Given the description of an element on the screen output the (x, y) to click on. 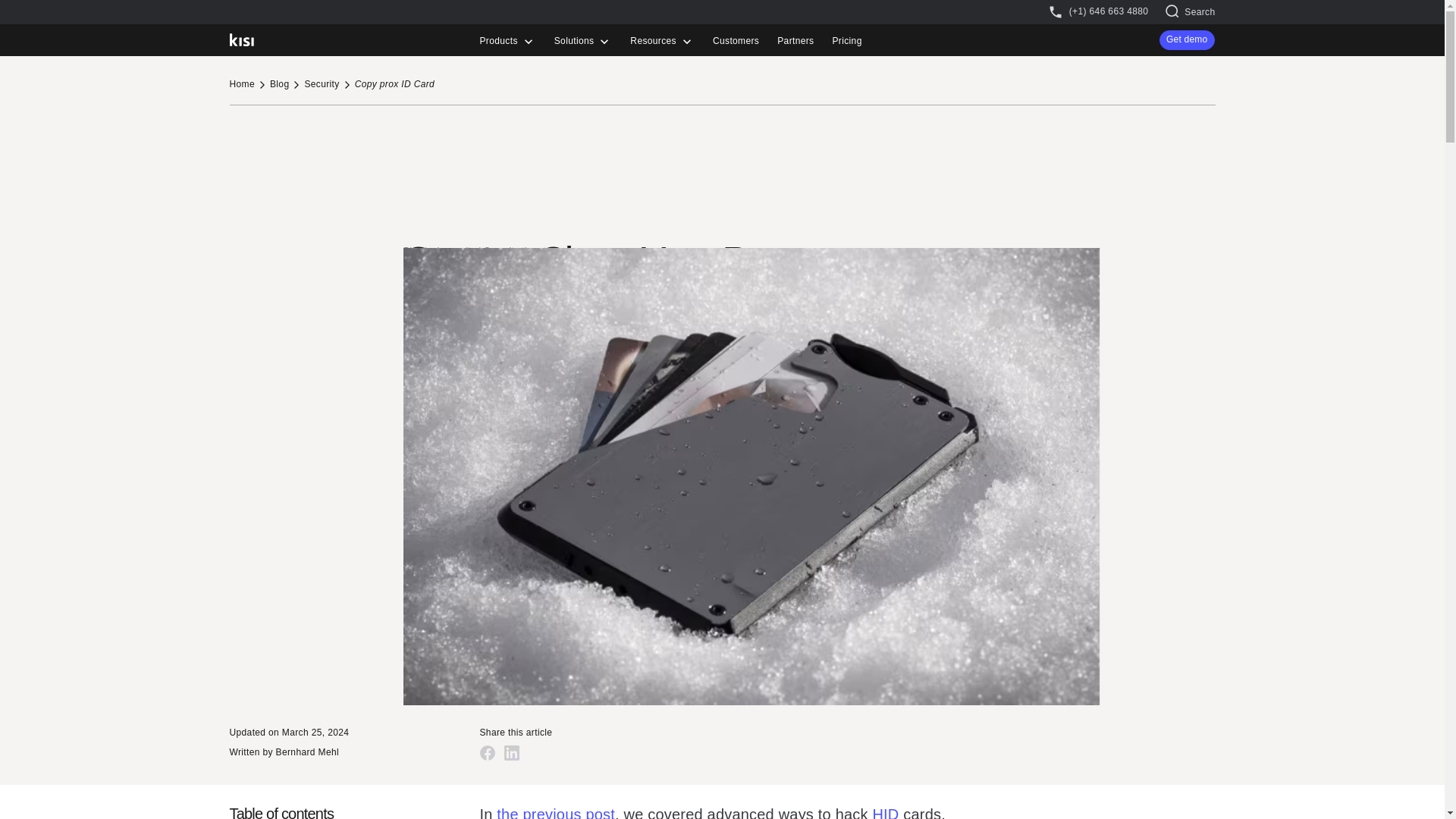
Kisi wordmark (240, 39)
